Given the description of an element on the screen output the (x, y) to click on. 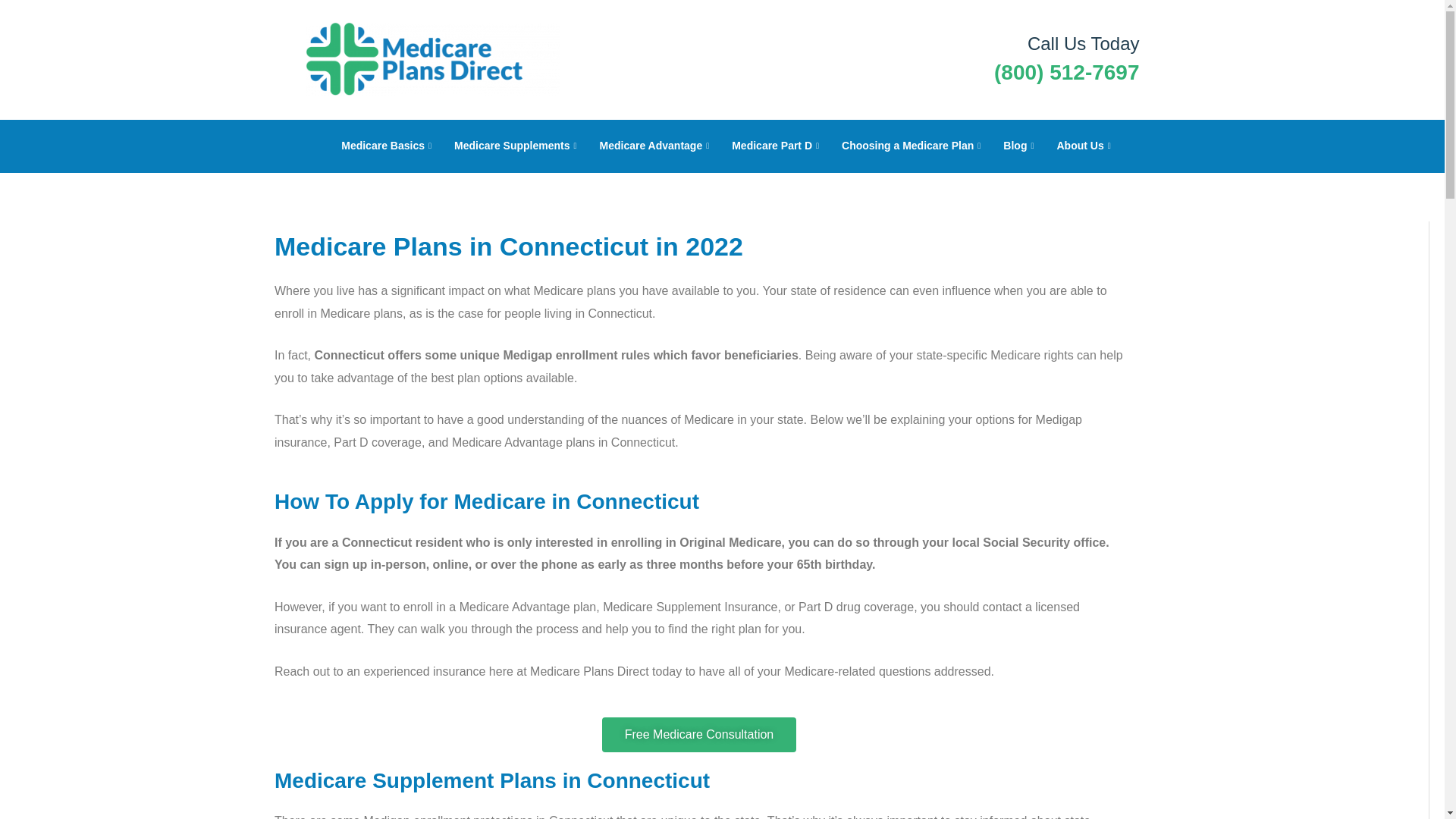
Medicare Basics (382, 146)
Medicare Advantage (651, 146)
Medicare Supplements (512, 146)
